Given the description of an element on the screen output the (x, y) to click on. 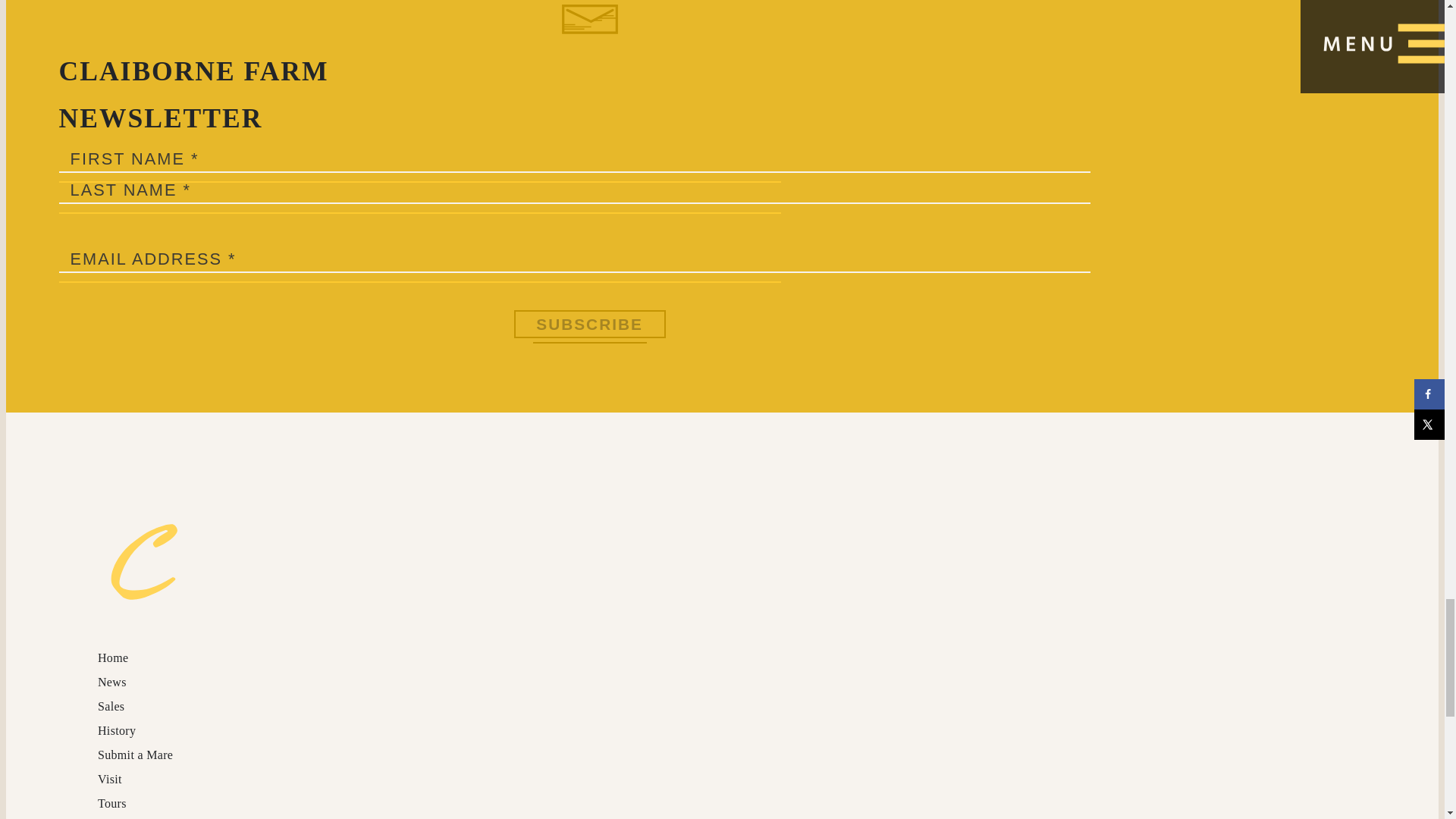
SUBSCRIBE (589, 324)
